Given the description of an element on the screen output the (x, y) to click on. 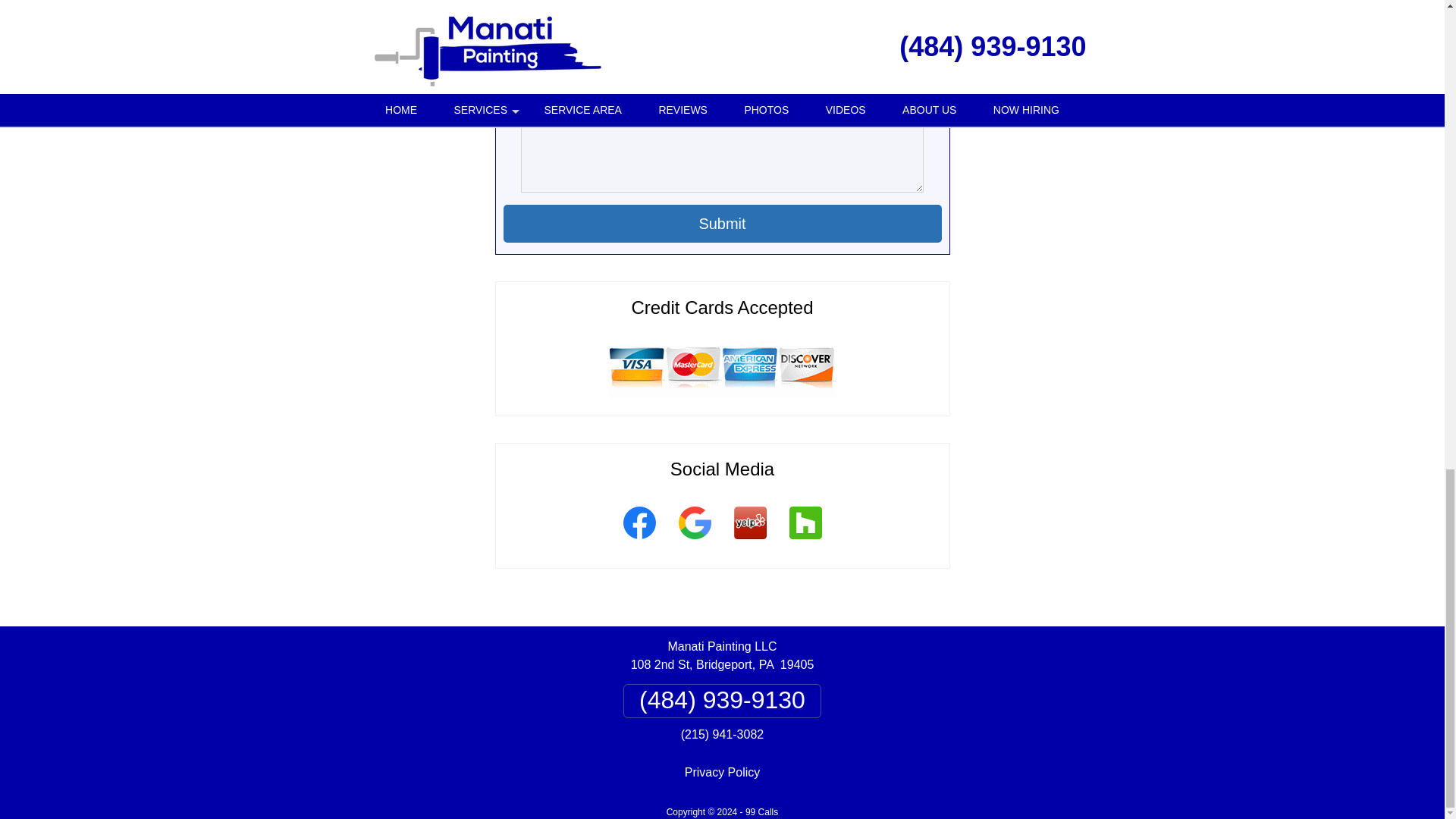
Google (694, 541)
Yelp (749, 541)
Houzz (804, 541)
Facebook (638, 541)
